Given the description of an element on the screen output the (x, y) to click on. 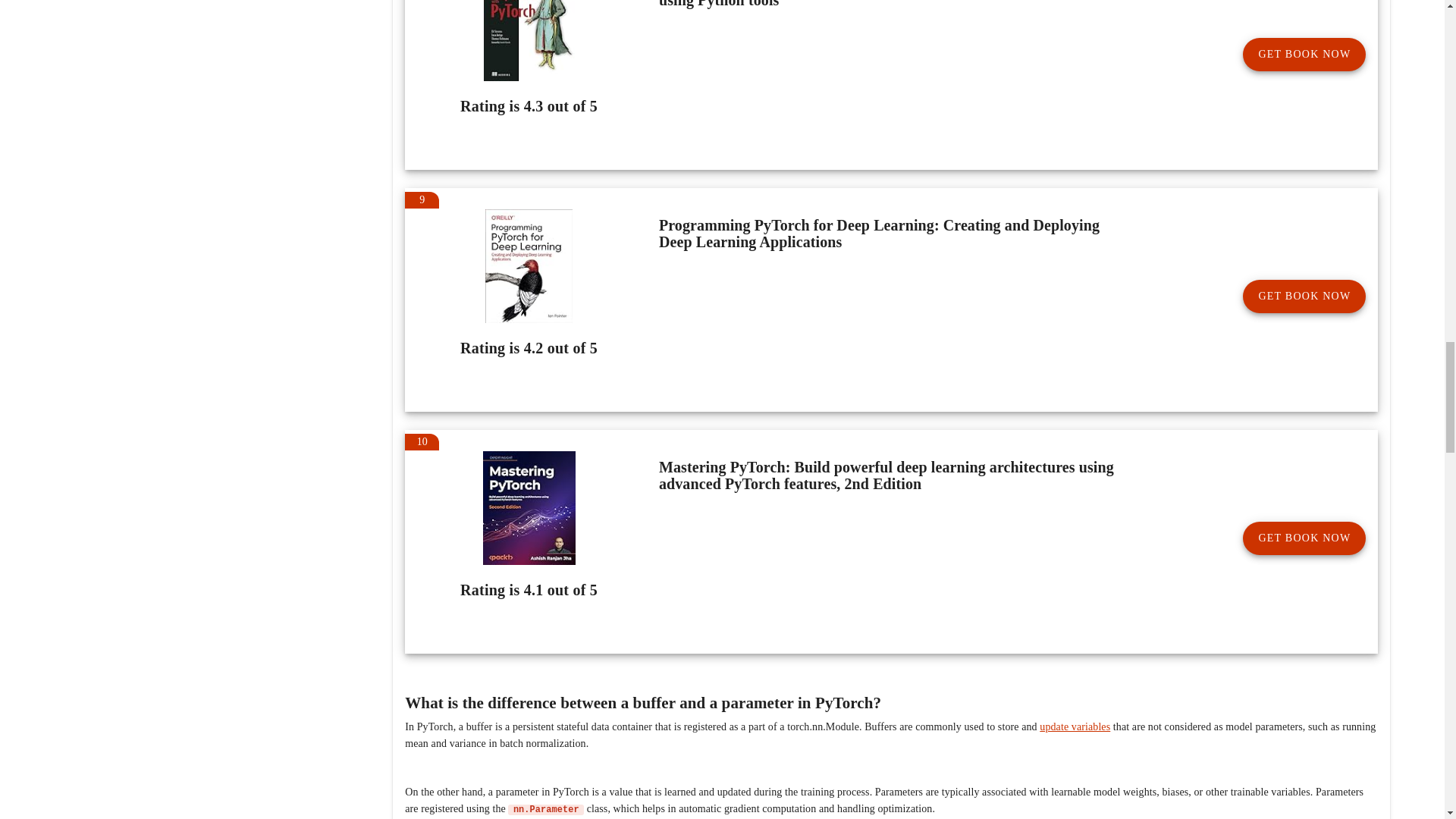
GET BOOK NOW (1304, 538)
update variables (1074, 726)
GET BOOK NOW (1304, 54)
GET BOOK NOW (1304, 296)
